Given the description of an element on the screen output the (x, y) to click on. 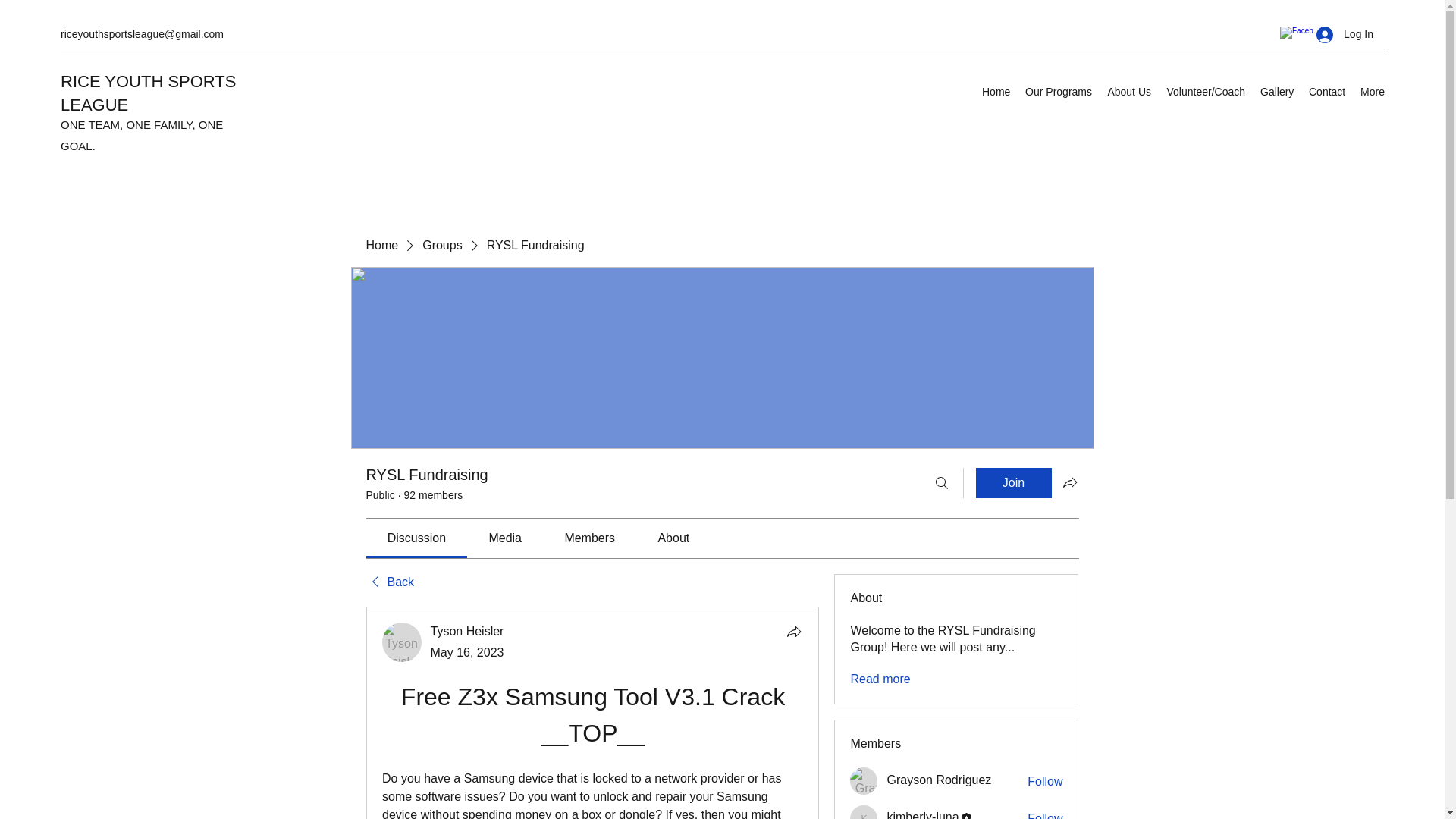
Home (381, 245)
Our Programs (1058, 91)
Tyson Heisler (466, 631)
Back (389, 582)
kimberly-luna (922, 814)
May 16, 2023 (466, 652)
Contact (1326, 91)
Follow (1044, 781)
kimberly-luna (863, 812)
Groups (441, 245)
